Given the description of an element on the screen output the (x, y) to click on. 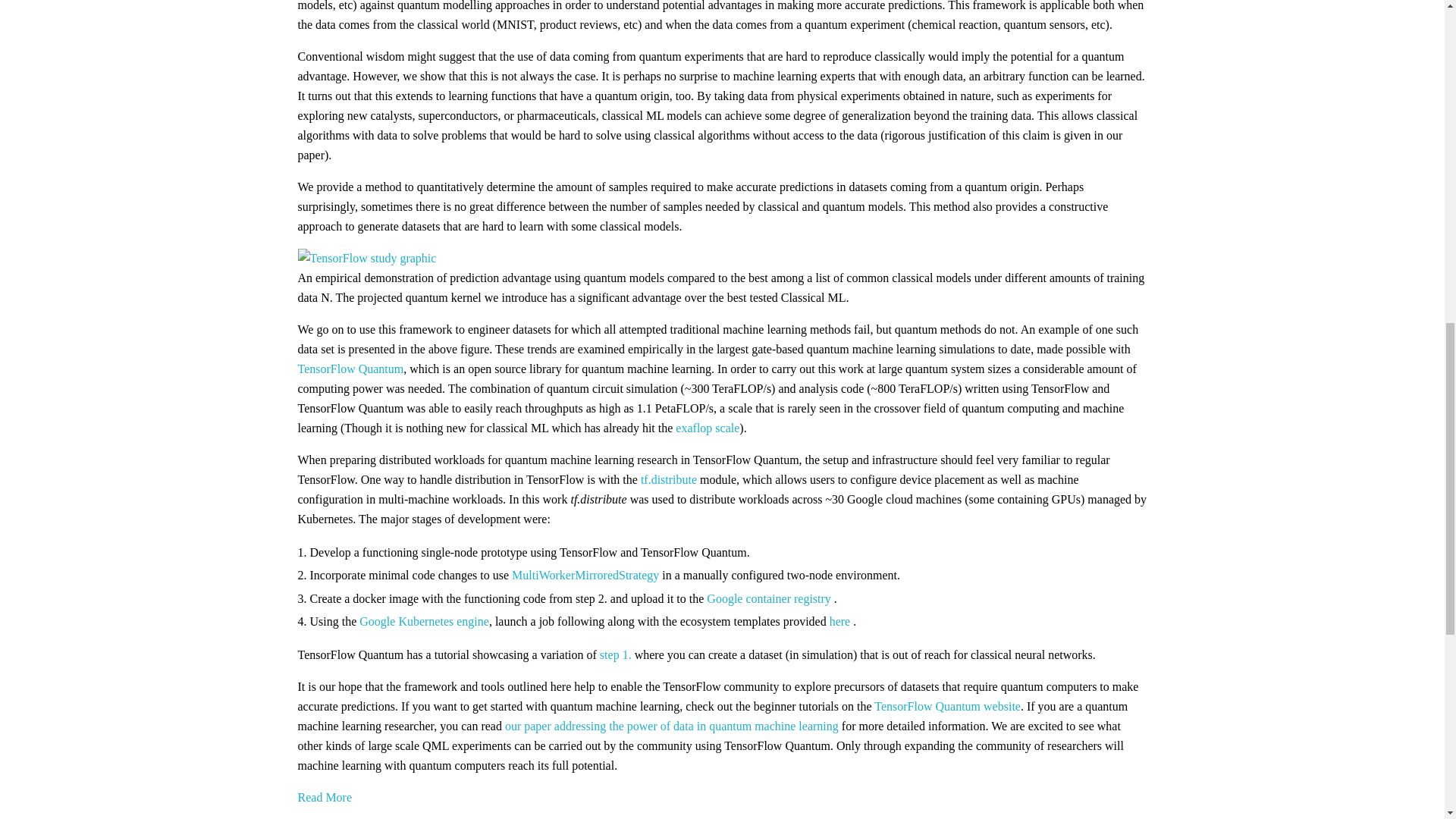
MultiWorkerMirroredStrategy (585, 574)
Google container registry (768, 598)
here (839, 621)
Read More (324, 797)
TensorFlow Quantum website (947, 706)
step 1. (615, 654)
tf.distribute (668, 479)
exaflop scale (707, 427)
TensorFlow Quantum (350, 368)
